Given the description of an element on the screen output the (x, y) to click on. 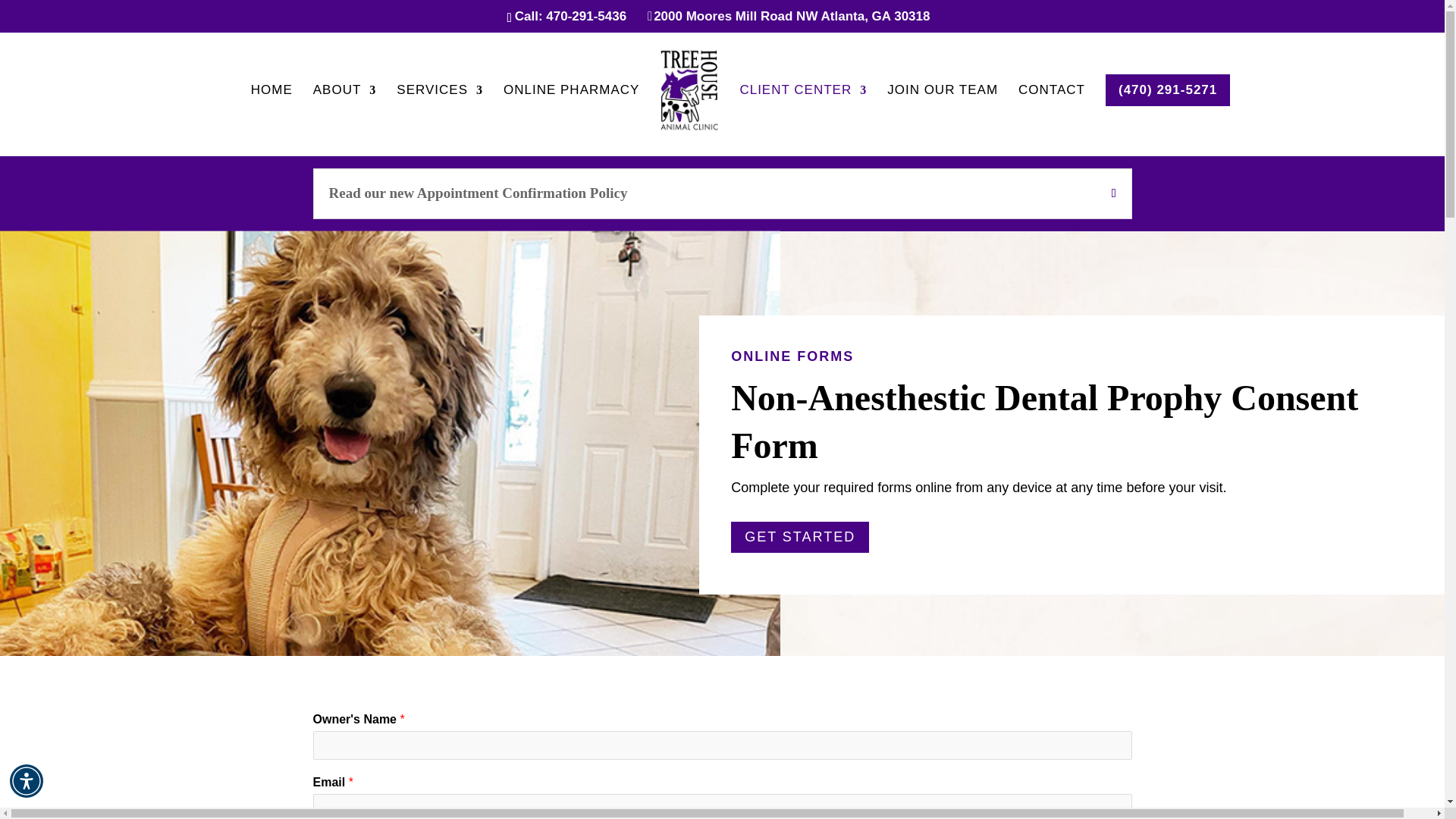
CLIENT CENTER (802, 109)
470-291-5436 (586, 16)
Accessibility Menu (26, 780)
ABOUT (345, 109)
ONLINE PHARMACY (571, 109)
2000 Moores Mill Road NW Atlanta, GA 30318 (791, 16)
SERVICES (439, 109)
